Given the description of an element on the screen output the (x, y) to click on. 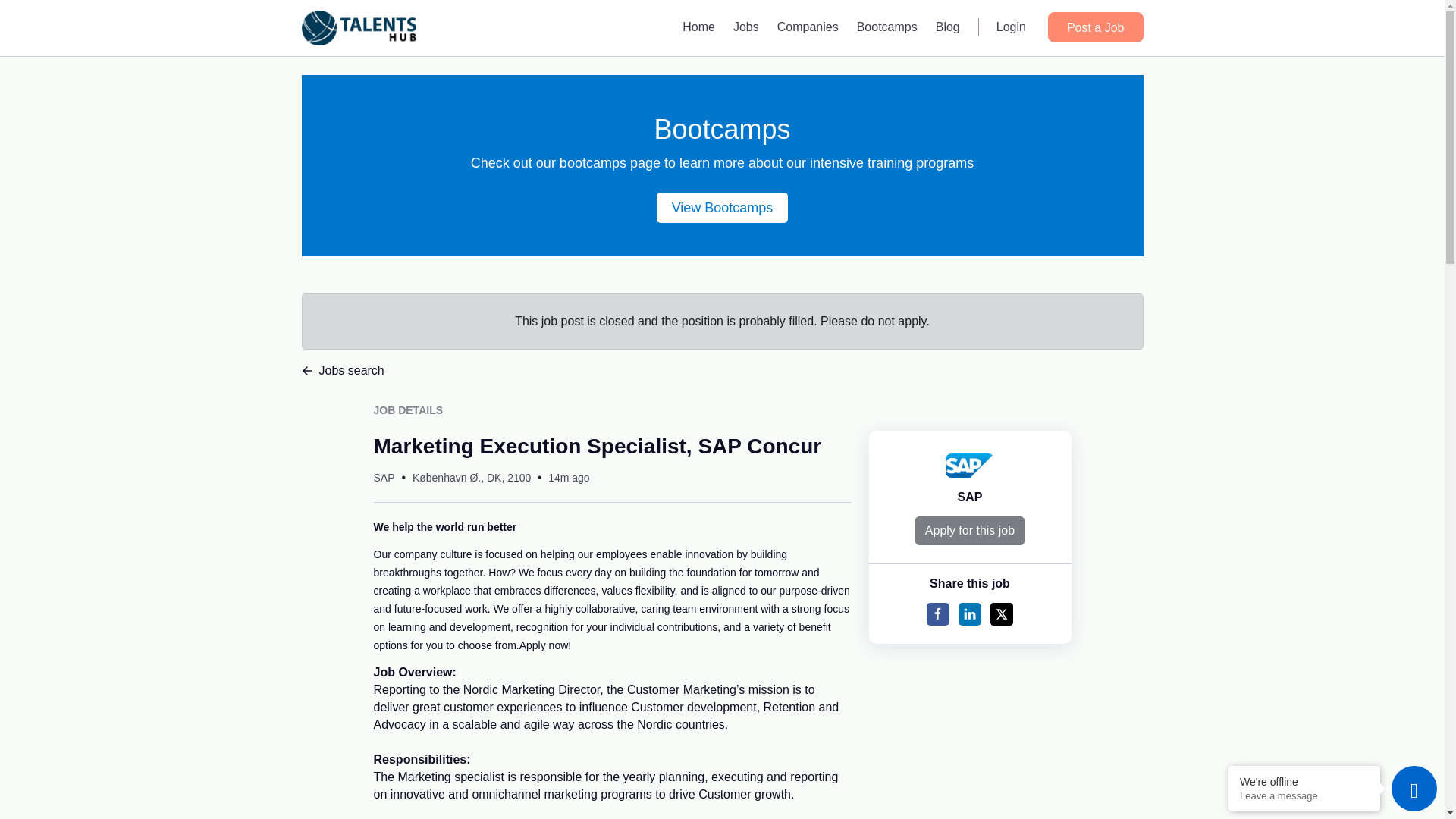
SAP (970, 496)
View Bootcamps (722, 207)
Login (1011, 26)
Apply for this job (970, 530)
SAP (383, 477)
Leave a message (1304, 795)
Share to Linkedin (969, 613)
Jobs (745, 26)
Share to Twitter (1001, 613)
Home (697, 26)
Jobs search (721, 370)
We're offline (1304, 781)
Blog (947, 26)
Companies (807, 26)
Bootcamps (886, 26)
